Given the description of an element on the screen output the (x, y) to click on. 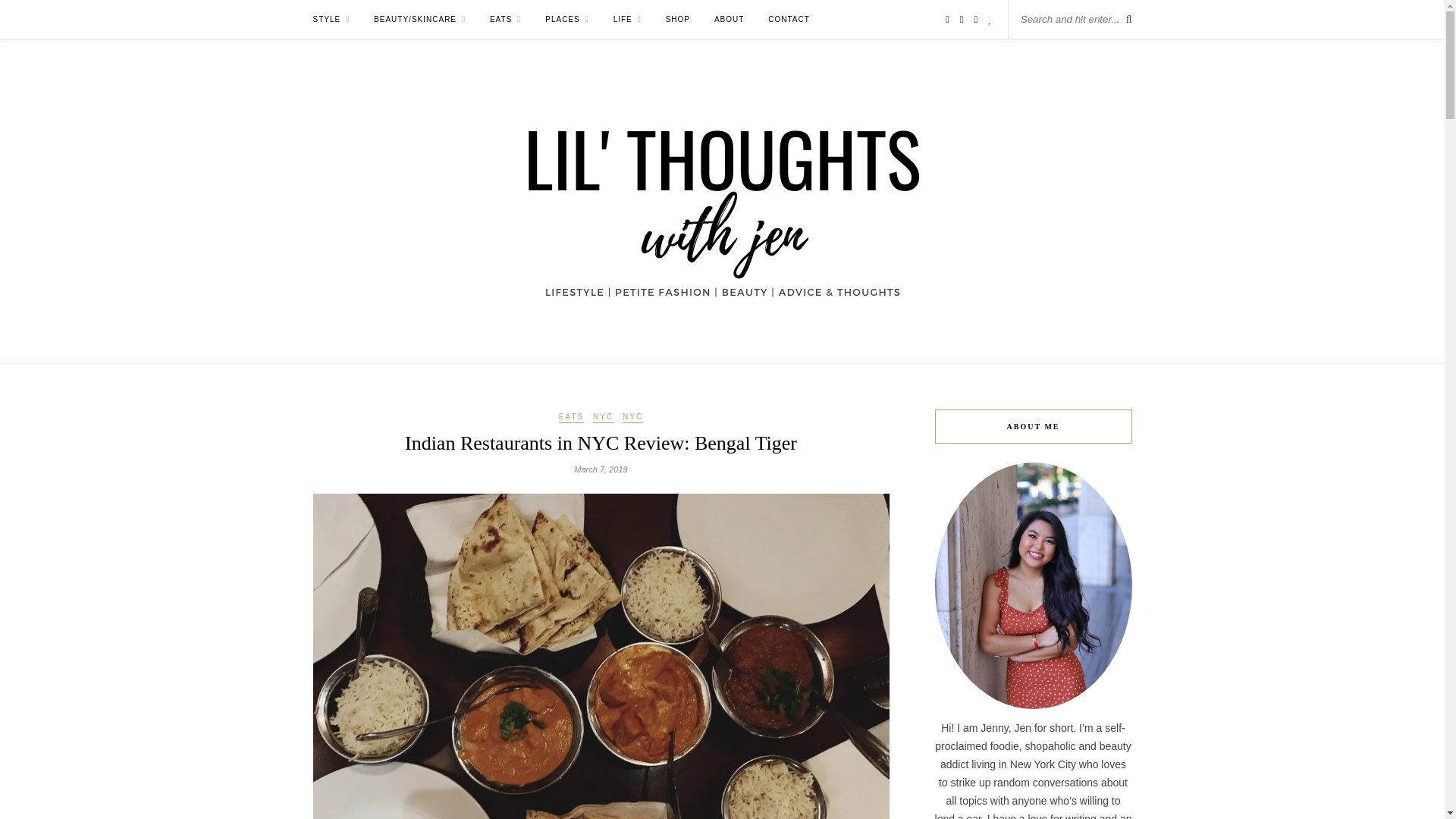
View all posts in NYC (602, 417)
STYLE (331, 19)
View all posts in NYC (633, 417)
PLACES (566, 19)
View all posts in Eats (571, 417)
CONTACT (788, 19)
